Given the description of an element on the screen output the (x, y) to click on. 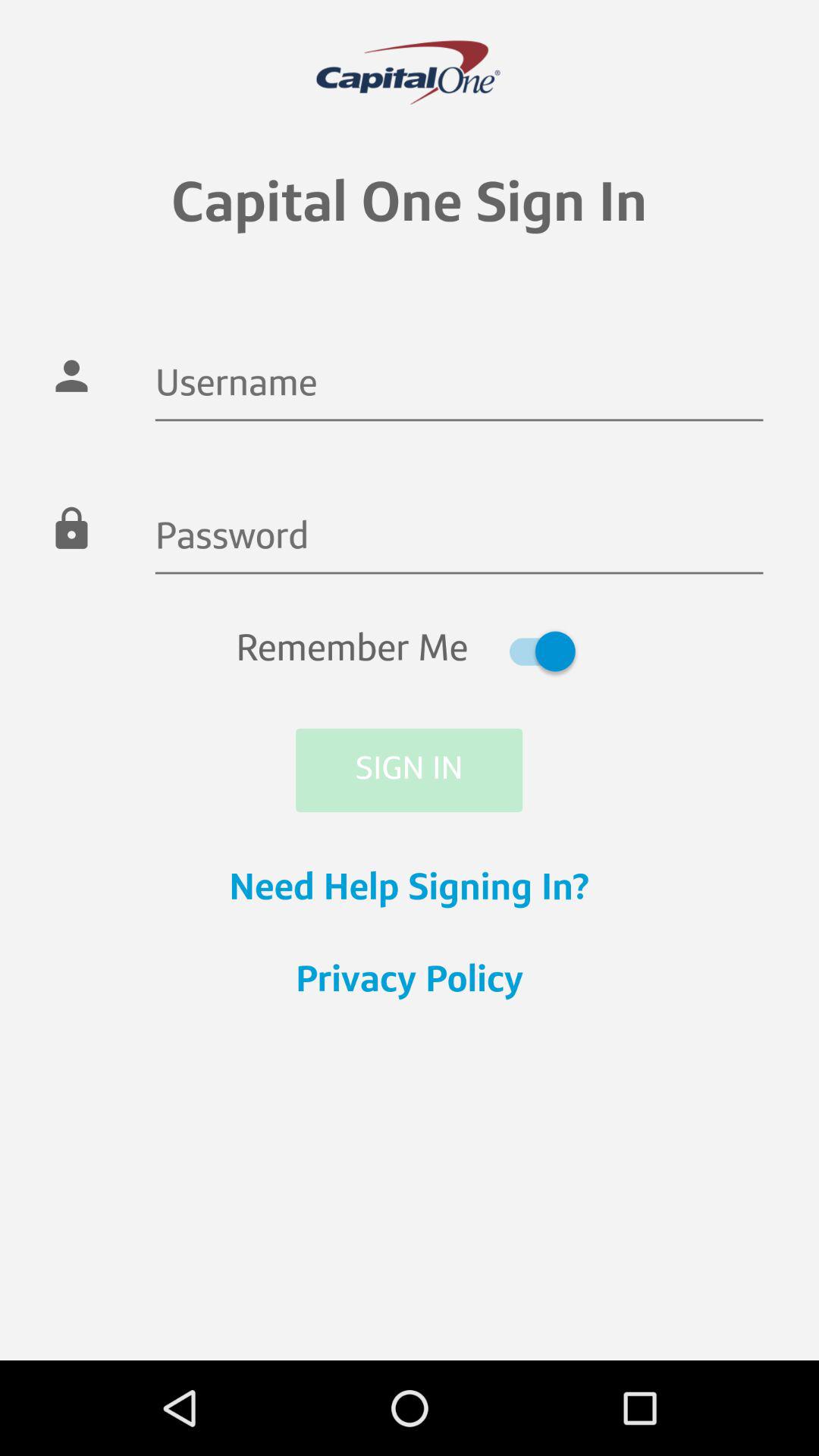
choose the item above the remember me item (459, 539)
